Given the description of an element on the screen output the (x, y) to click on. 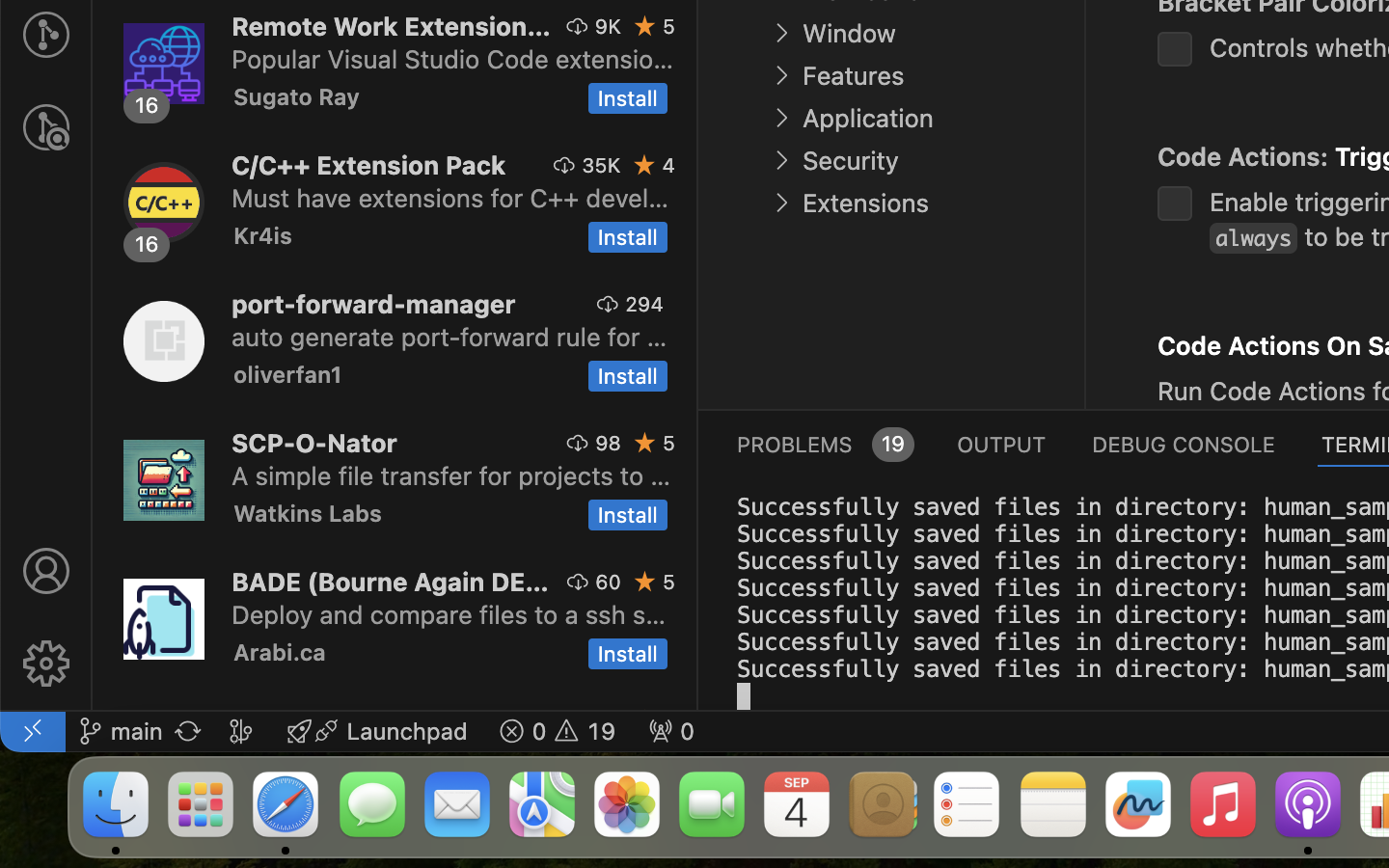
Watkins Labs Element type: AXStaticText (307, 512)
Must have extensions for C++ development in Visual Studio Code. Element type: AXStaticText (450, 197)
98 Element type: AXStaticText (608, 442)
 Element type: AXGroup (46, 663)
BADE (Bourne Again DEploy) Element type: AXStaticText (390, 581)
